Given the description of an element on the screen output the (x, y) to click on. 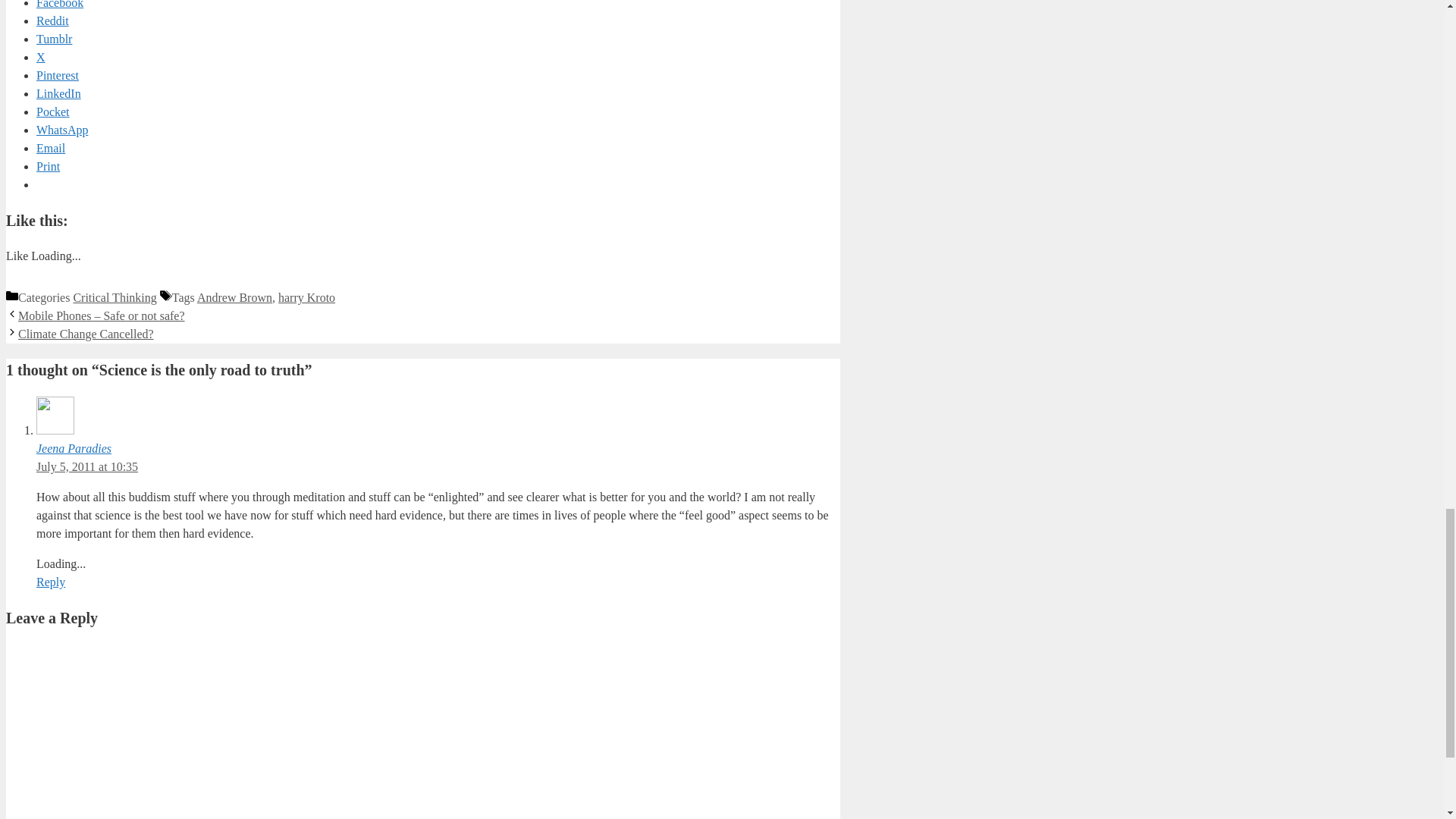
Tumblr (53, 38)
Click to share on Facebook (59, 4)
Pinterest (57, 74)
Click to share on Tumblr (53, 38)
Click to share on Pinterest (57, 74)
Click to email a link to a friend (50, 147)
Click to share on WhatsApp (61, 129)
Click to share on LinkedIn (58, 92)
Facebook (59, 4)
Click to share on Pocket (52, 111)
Reddit (52, 20)
Click to share on Reddit (52, 20)
